Given the description of an element on the screen output the (x, y) to click on. 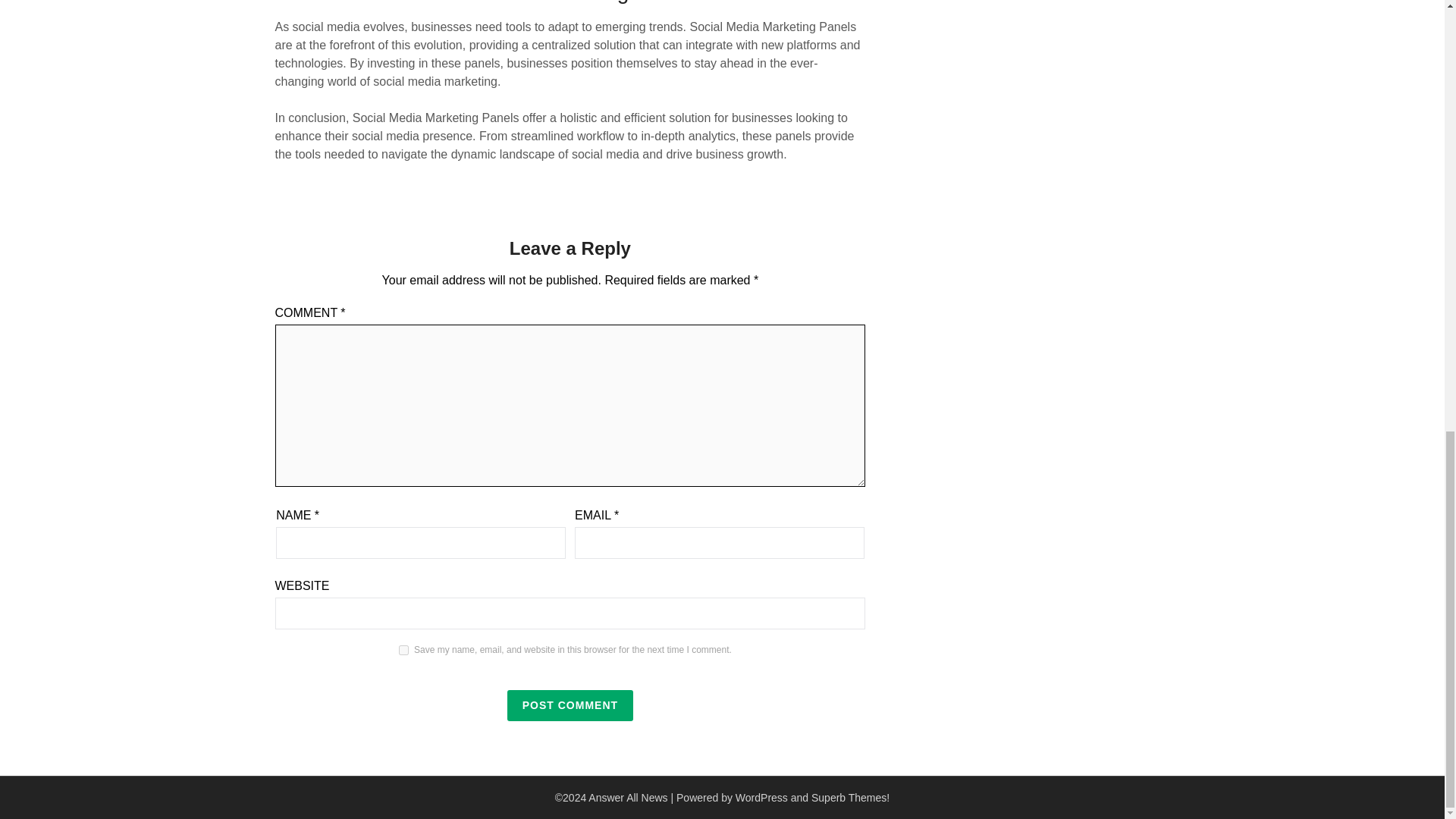
Post Comment (569, 705)
Superb Themes! (849, 797)
Post Comment (569, 705)
yes (403, 650)
